Given the description of an element on the screen output the (x, y) to click on. 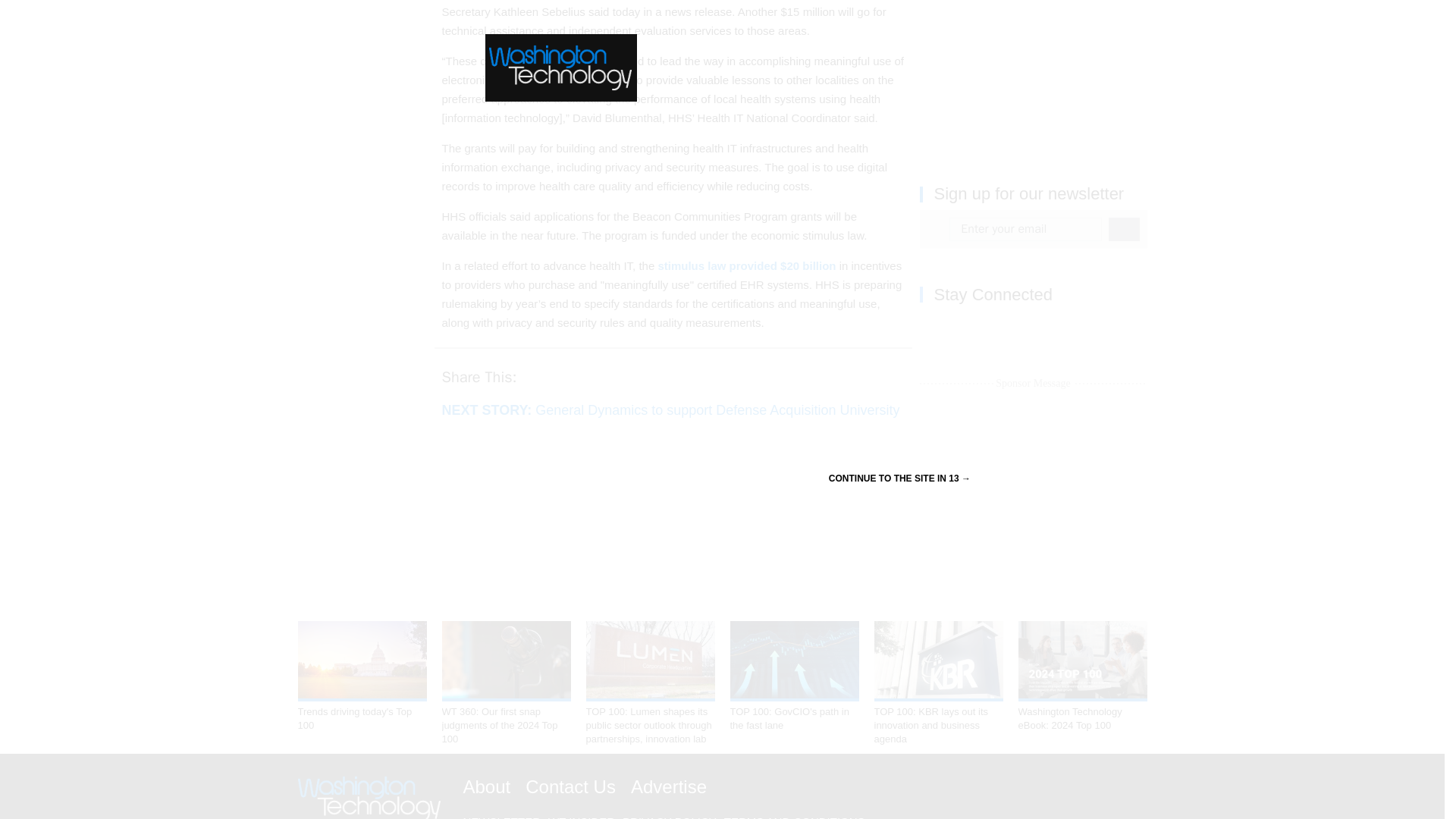
3rd party ad content (1032, 74)
